Given the description of an element on the screen output the (x, y) to click on. 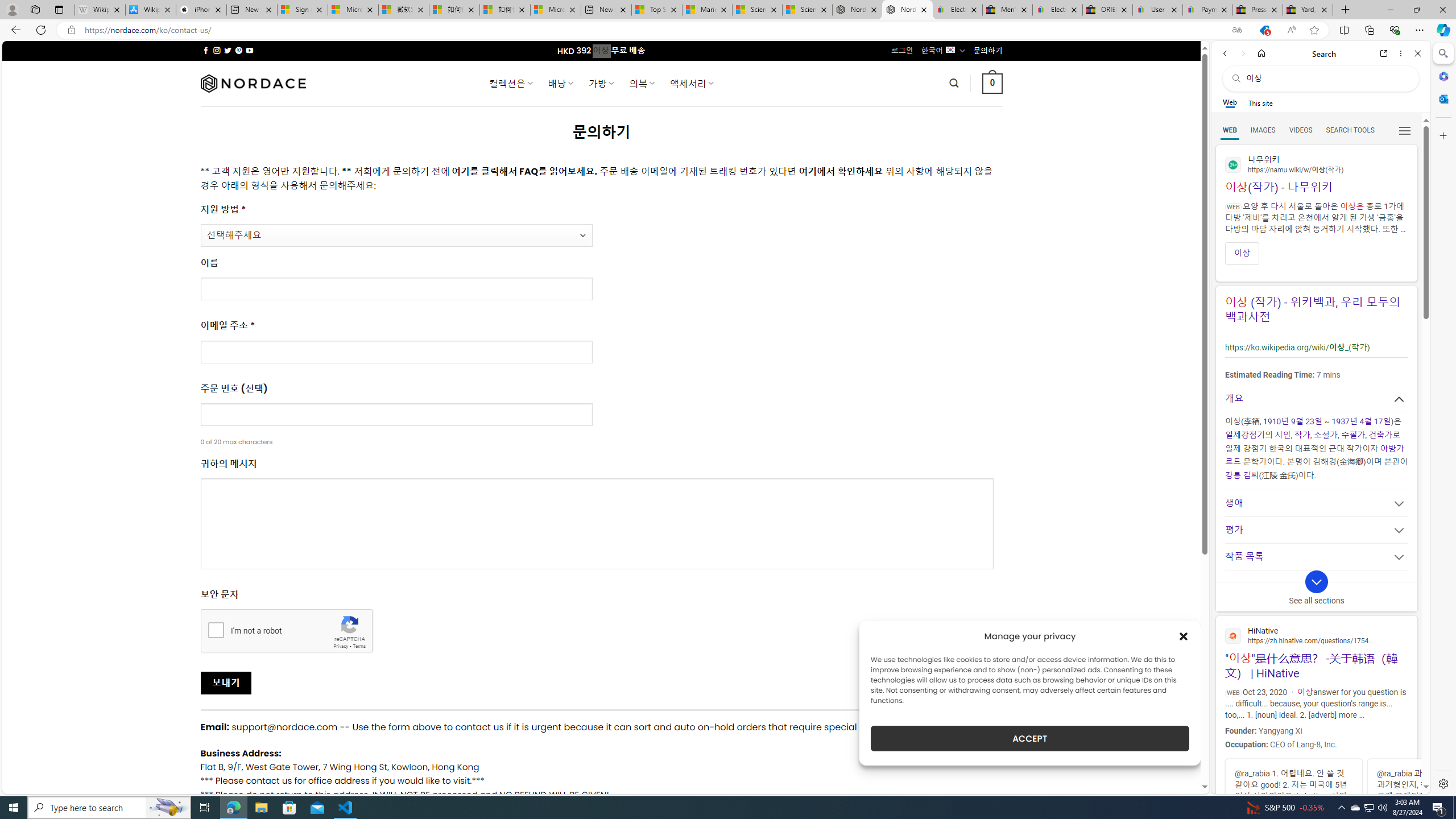
This site has coupons! Shopping in Microsoft Edge, 5 (1263, 29)
